Given the description of an element on the screen output the (x, y) to click on. 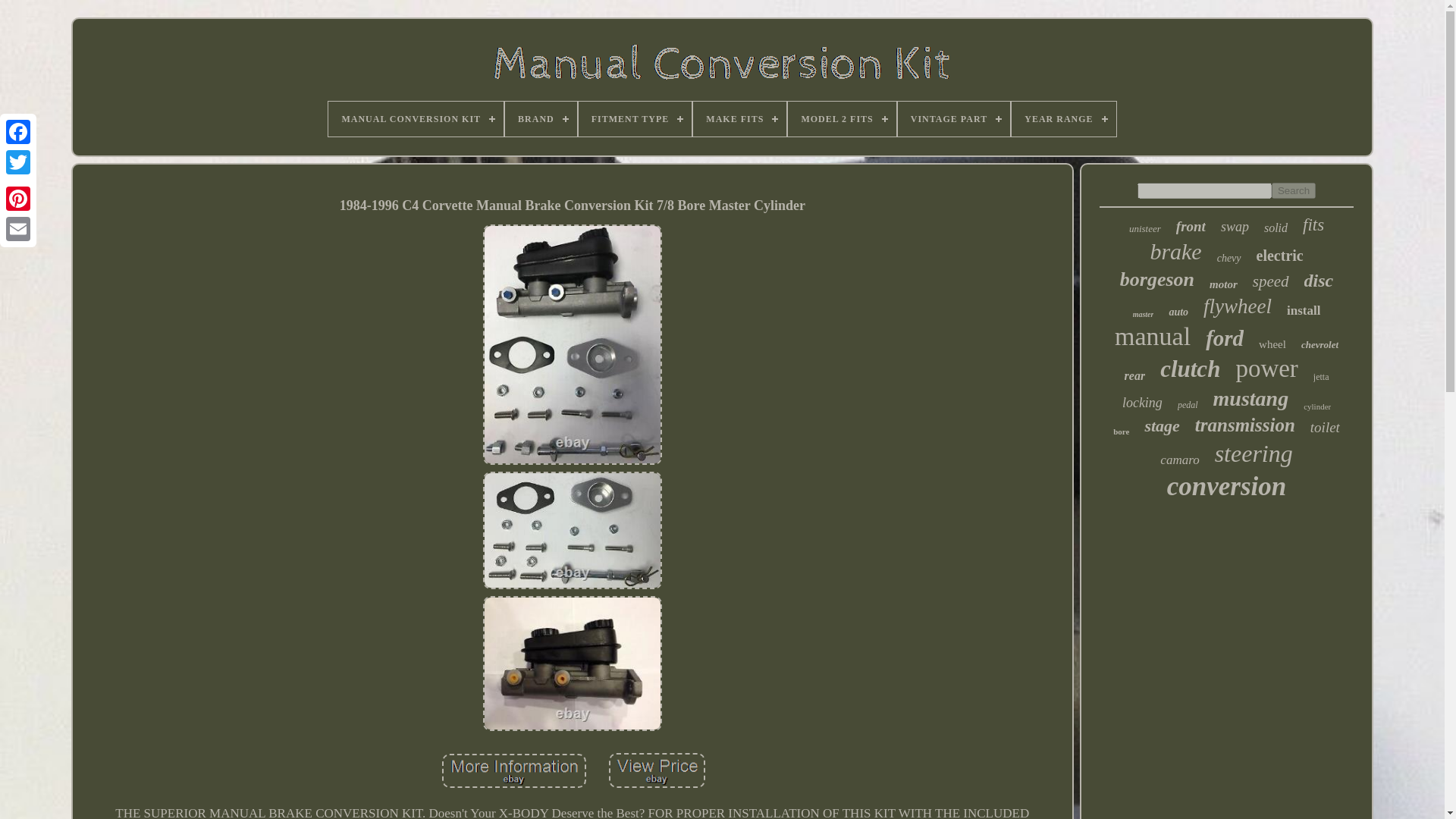
FITMENT TYPE (635, 118)
Search (1293, 190)
BRAND (540, 118)
MAKE FITS (739, 118)
Twitter (17, 162)
MANUAL CONVERSION KIT (416, 118)
